Given the description of an element on the screen output the (x, y) to click on. 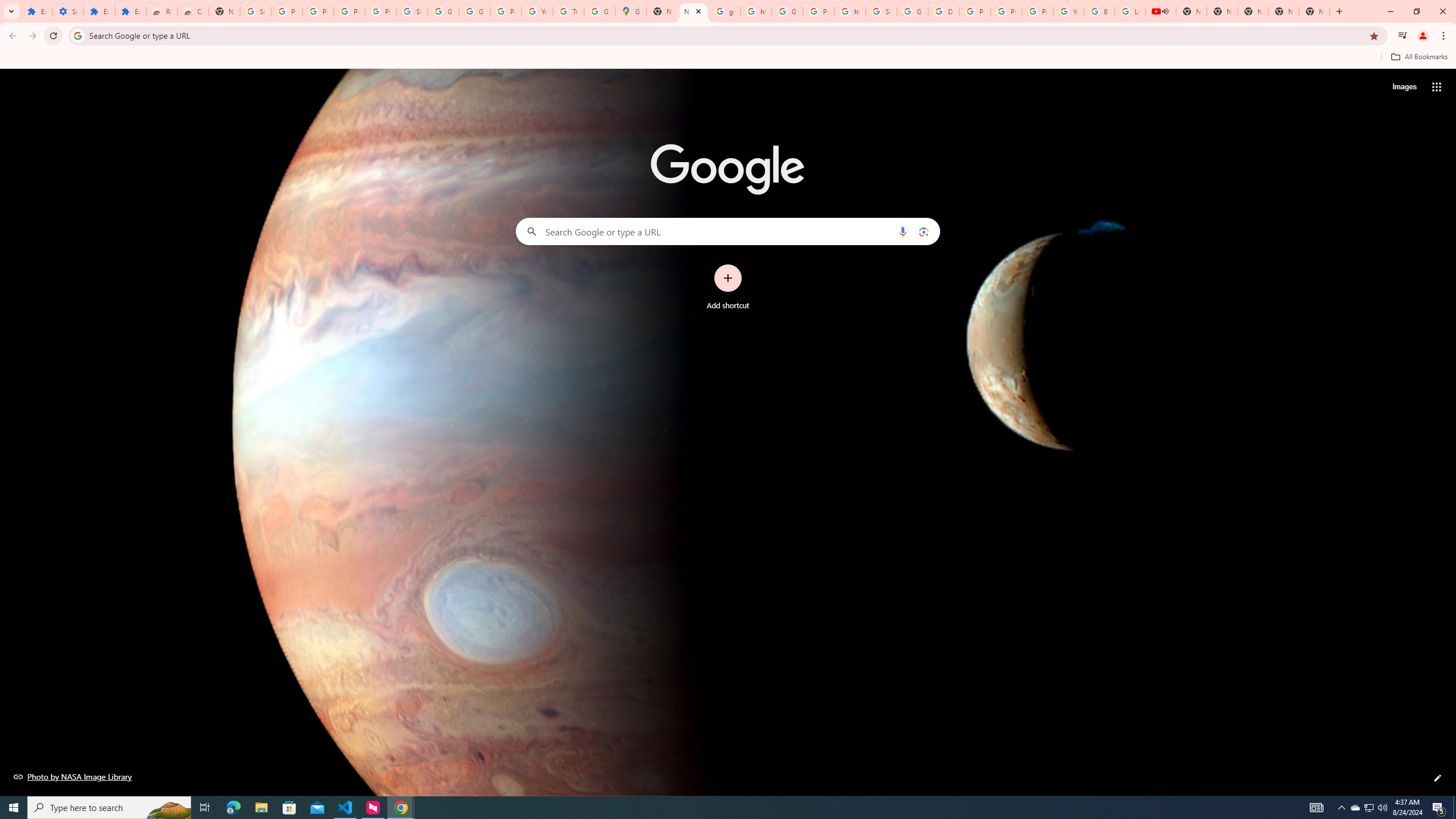
New Tab (1314, 11)
Sign in - Google Accounts (881, 11)
Privacy Help Center - Policies Help (974, 11)
Privacy Help Center - Policies Help (1005, 11)
New Tab (223, 11)
Sign in - Google Accounts (255, 11)
